Given the description of an element on the screen output the (x, y) to click on. 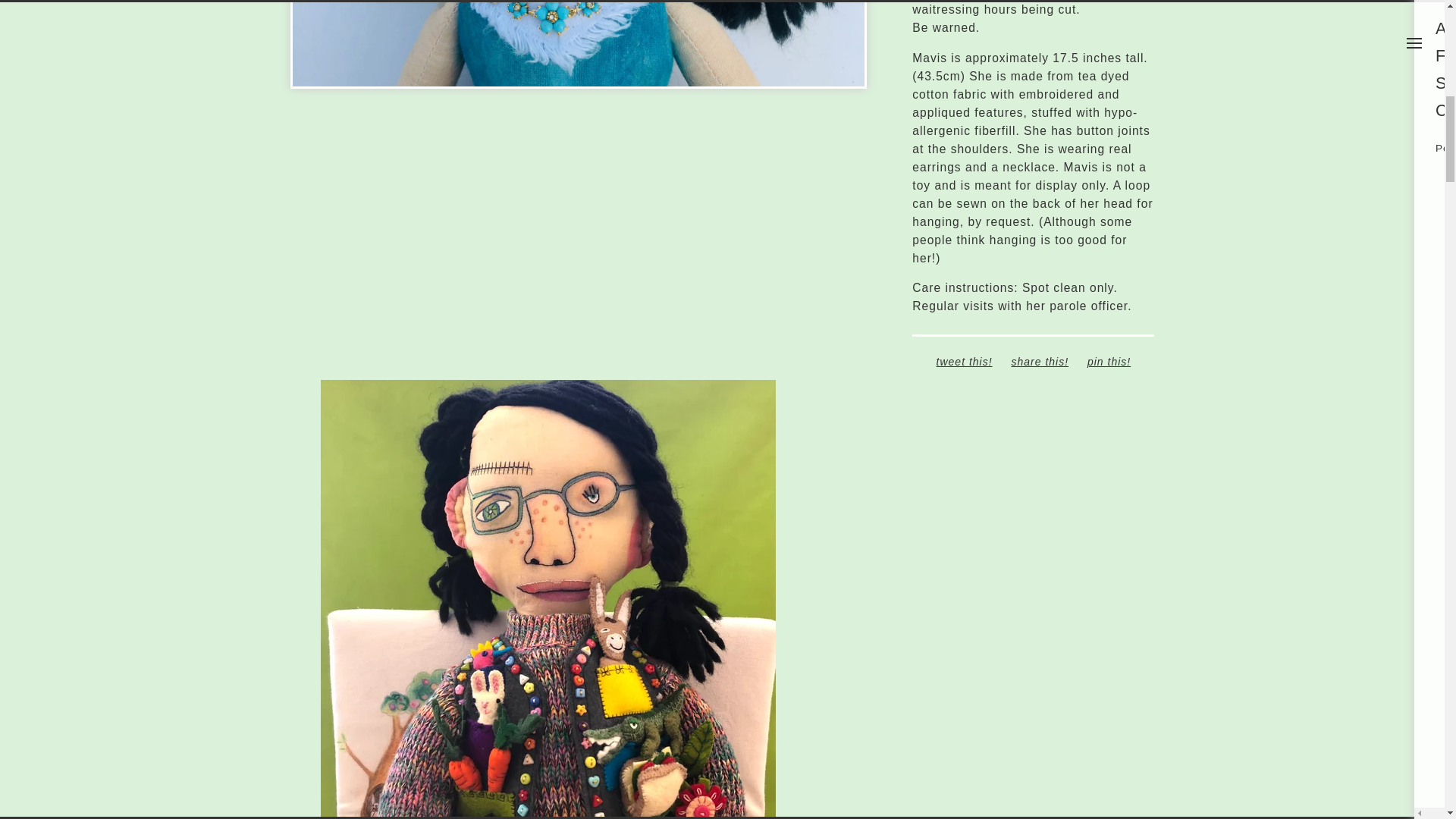
pin this! (1109, 361)
next (722, 45)
prev (433, 45)
share this! (1039, 361)
tweet this! (964, 361)
